Given the description of an element on the screen output the (x, y) to click on. 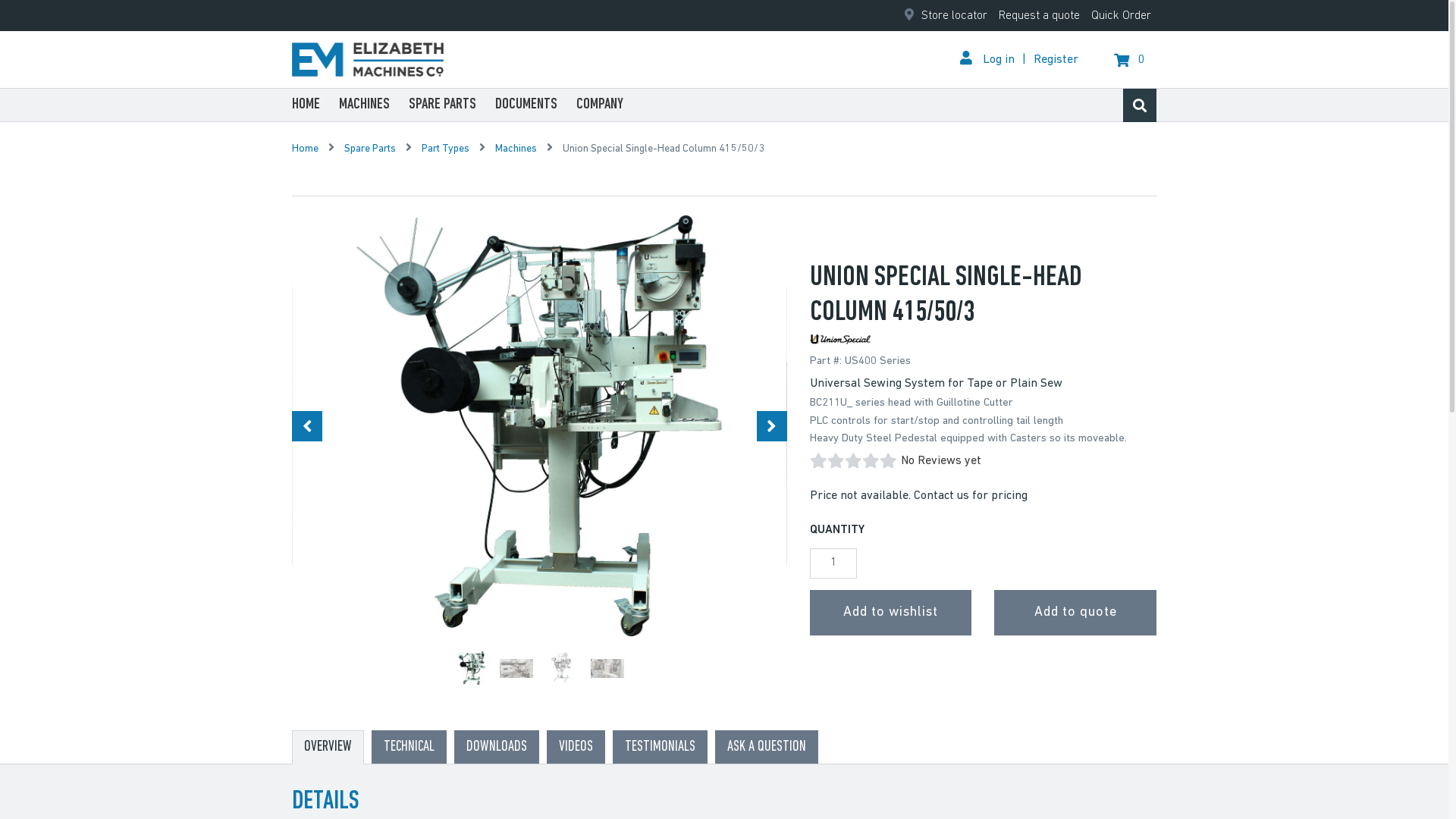
0 Element type: text (1130, 58)
VIDEOS Element type: text (575, 746)
TECHNICAL Element type: text (408, 746)
SPARE PARTS Element type: text (442, 104)
DOCUMENTS Element type: text (525, 104)
Store locator Element type: text (945, 15)
HOME Element type: text (305, 104)
DOWNLOADS Element type: text (496, 746)
Register Element type: text (1055, 58)
ASK A QUESTION Element type: text (766, 746)
COMPANY Element type: text (599, 104)
Machines Element type: text (515, 148)
Quick Order Element type: text (1120, 15)
Log in Element type: text (991, 58)
MACHINES Element type: text (364, 104)
TESTIMONIALS Element type: text (659, 746)
Spare Parts Element type: text (370, 148)
OVERVIEW Element type: text (327, 747)
Search Element type: hover (1139, 105)
Add to quote Element type: text (1075, 612)
Add to wishlist Element type: text (890, 612)
Home Element type: text (305, 148)
Elizabeth Machines SCA Element type: hover (367, 59)
Request a quote Element type: text (1038, 15)
Part Types Element type: text (445, 148)
